Given the description of an element on the screen output the (x, y) to click on. 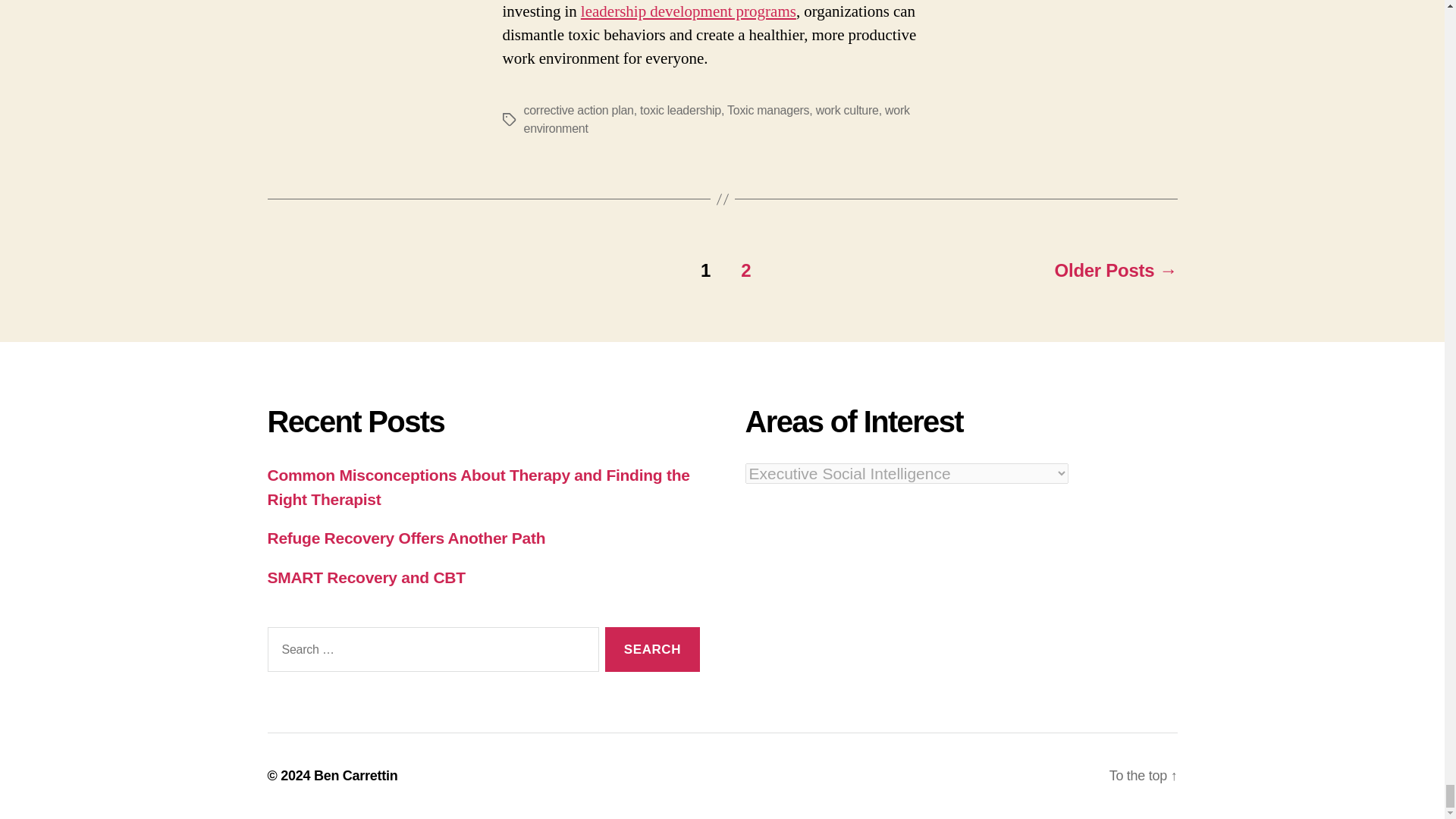
Search (651, 649)
Search (651, 649)
